Given the description of an element on the screen output the (x, y) to click on. 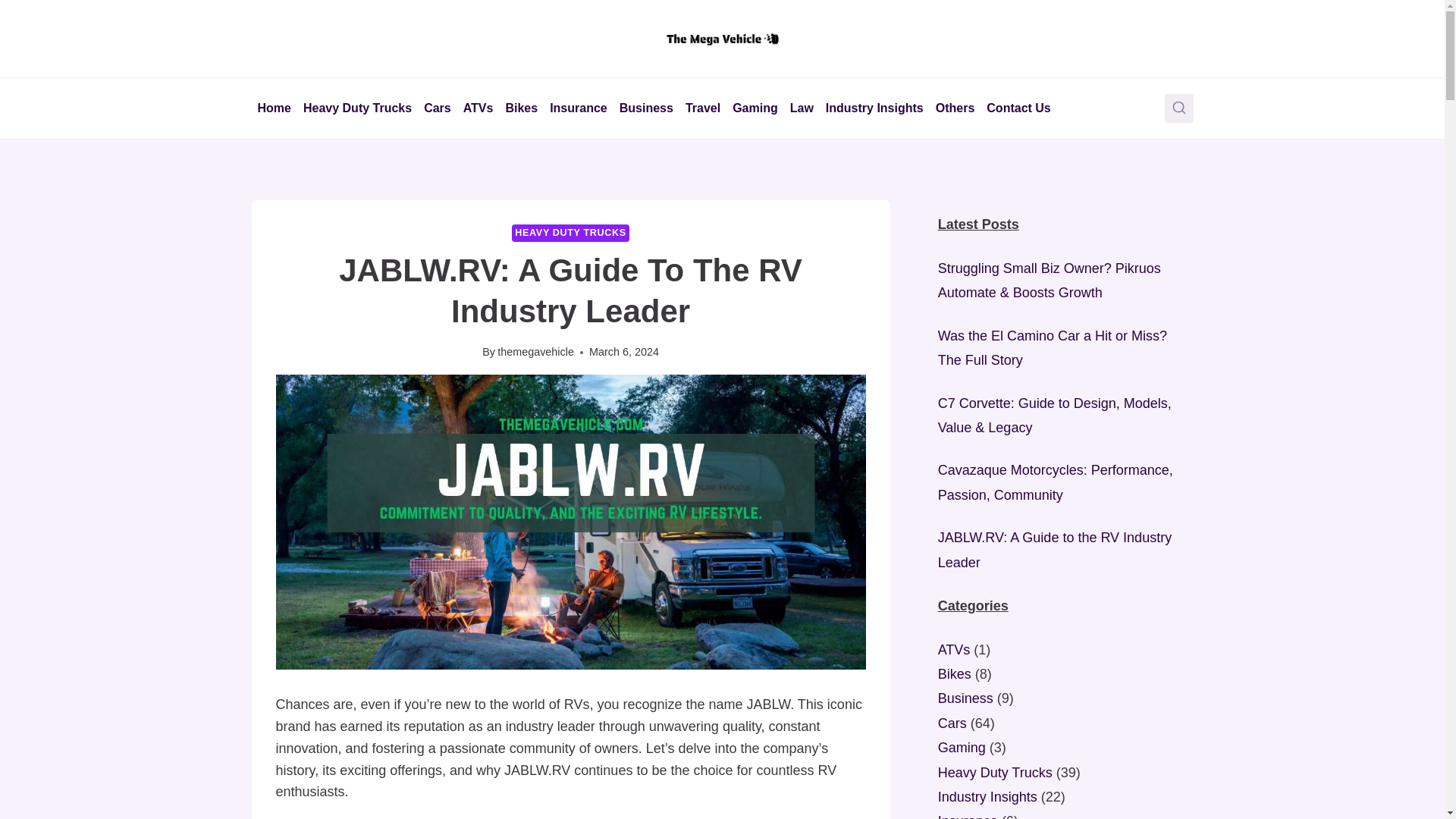
Heavy Duty Trucks (357, 108)
Cars (437, 108)
Industry Insights (874, 108)
HEAVY DUTY TRUCKS (570, 232)
Others (955, 108)
themegavehicle (535, 351)
Gaming (755, 108)
Business (645, 108)
Insurance (577, 108)
Home (274, 108)
